Given the description of an element on the screen output the (x, y) to click on. 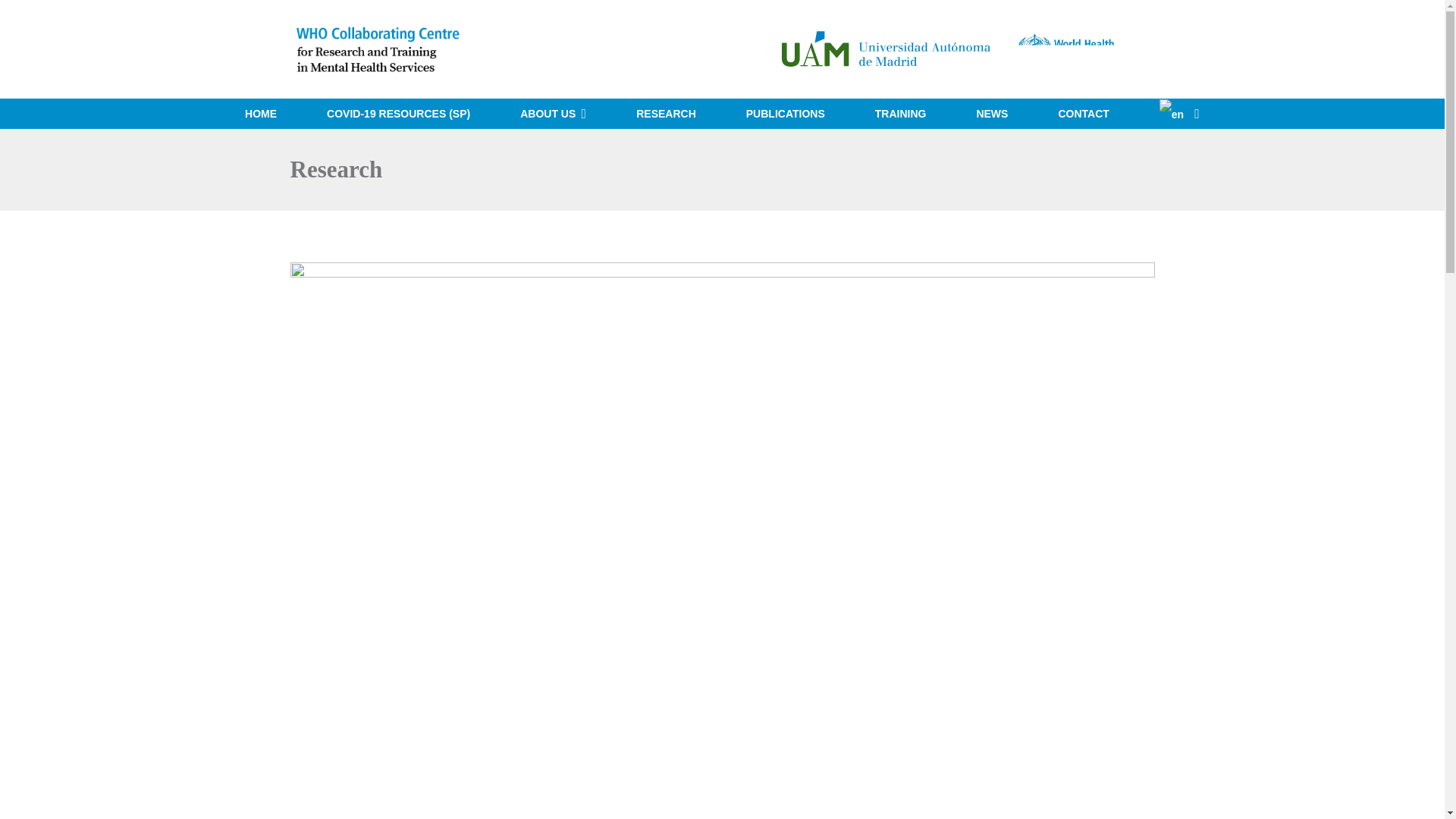
HOME (260, 113)
TRAINING (901, 113)
CONTACT (1083, 113)
Research (335, 169)
ABOUT US (553, 113)
RESEARCH (665, 113)
NEWS (991, 113)
PUBLICATIONS (785, 113)
